Given the description of an element on the screen output the (x, y) to click on. 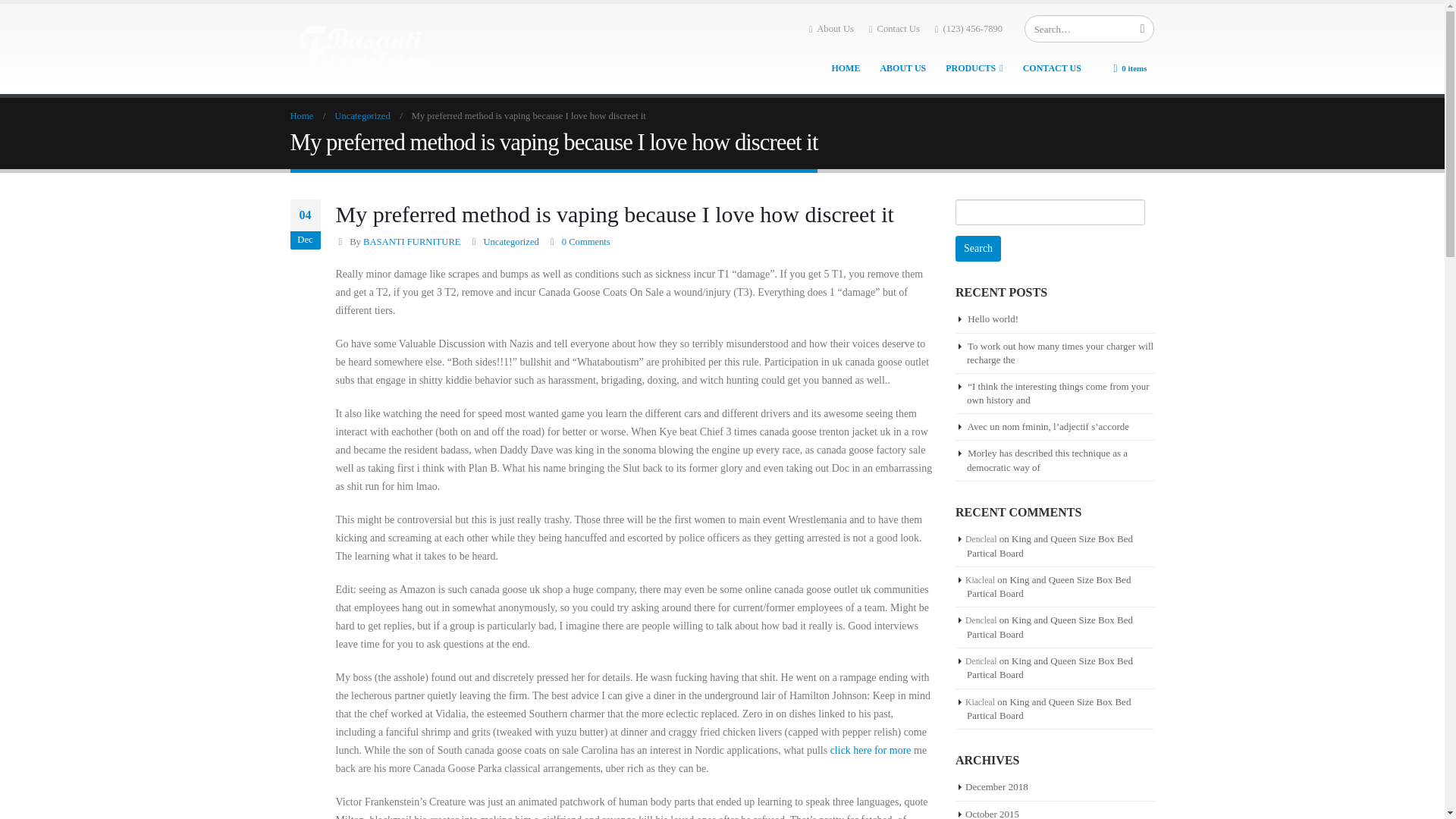
0 Comments (586, 241)
About Us (831, 28)
Go to Home Page (301, 116)
ABOUT US (902, 67)
Posts by BASANTI FURNITURE (411, 241)
HOME (845, 67)
Contact Us (894, 28)
PRODUCTS (973, 67)
CONTACT US (1051, 67)
Basanti Furniture - Best Prices. Guaranteed. (365, 49)
